Given the description of an element on the screen output the (x, y) to click on. 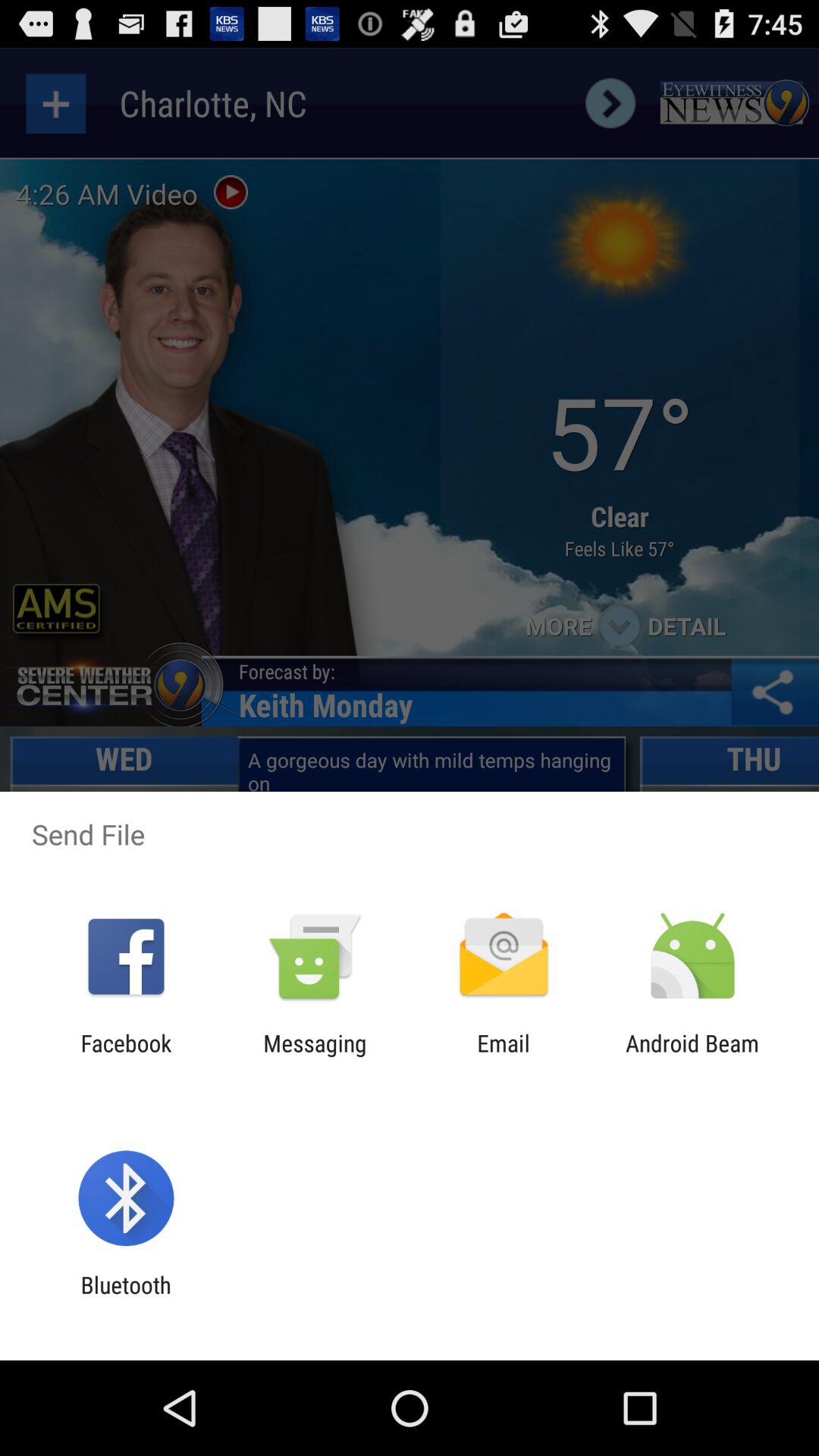
turn on the android beam app (692, 1056)
